Given the description of an element on the screen output the (x, y) to click on. 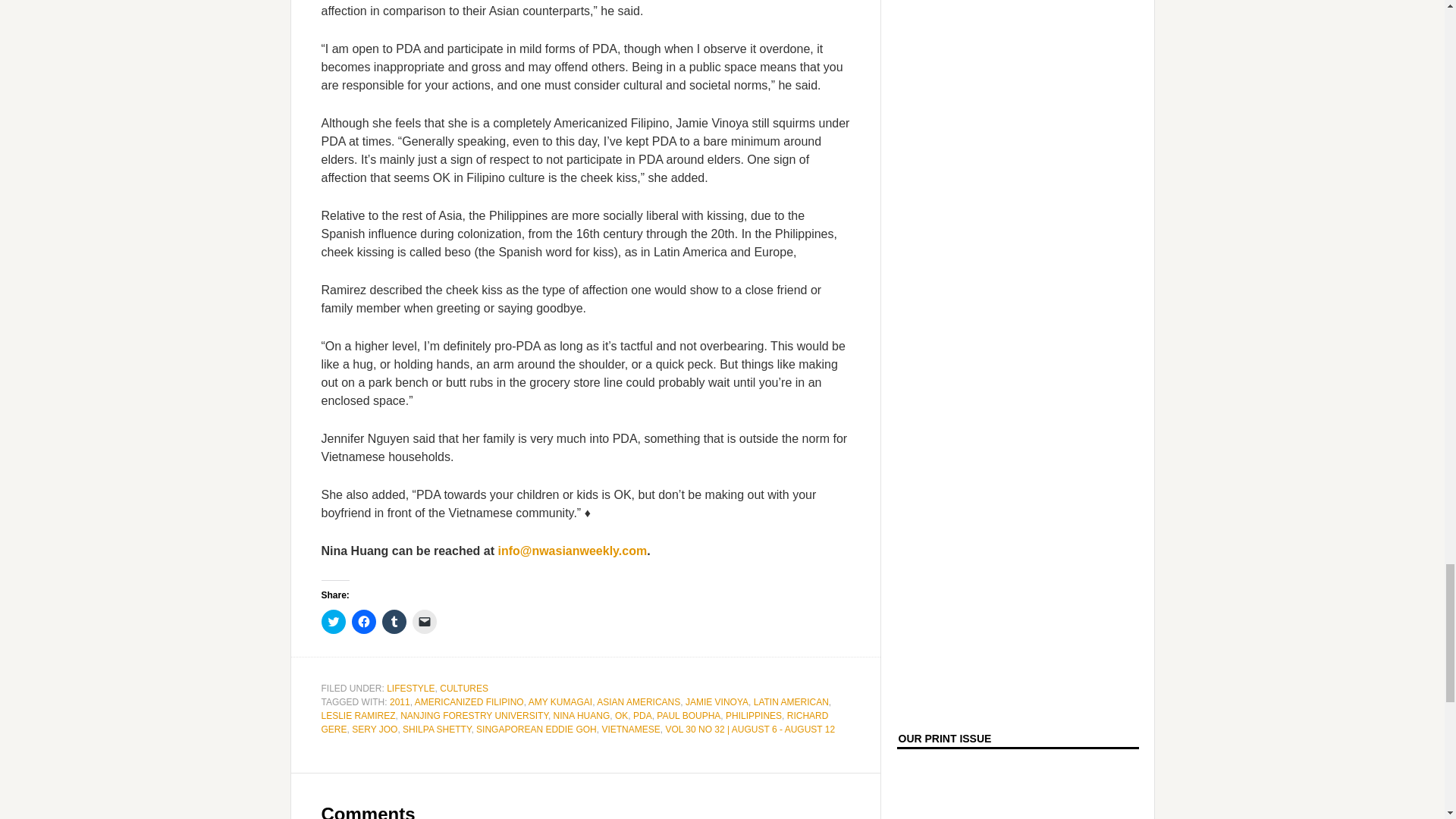
Click to share on Tumblr (393, 621)
Click to email a link to a friend (424, 621)
Click to share on Facebook (363, 621)
Click to share on Twitter (333, 621)
